Given the description of an element on the screen output the (x, y) to click on. 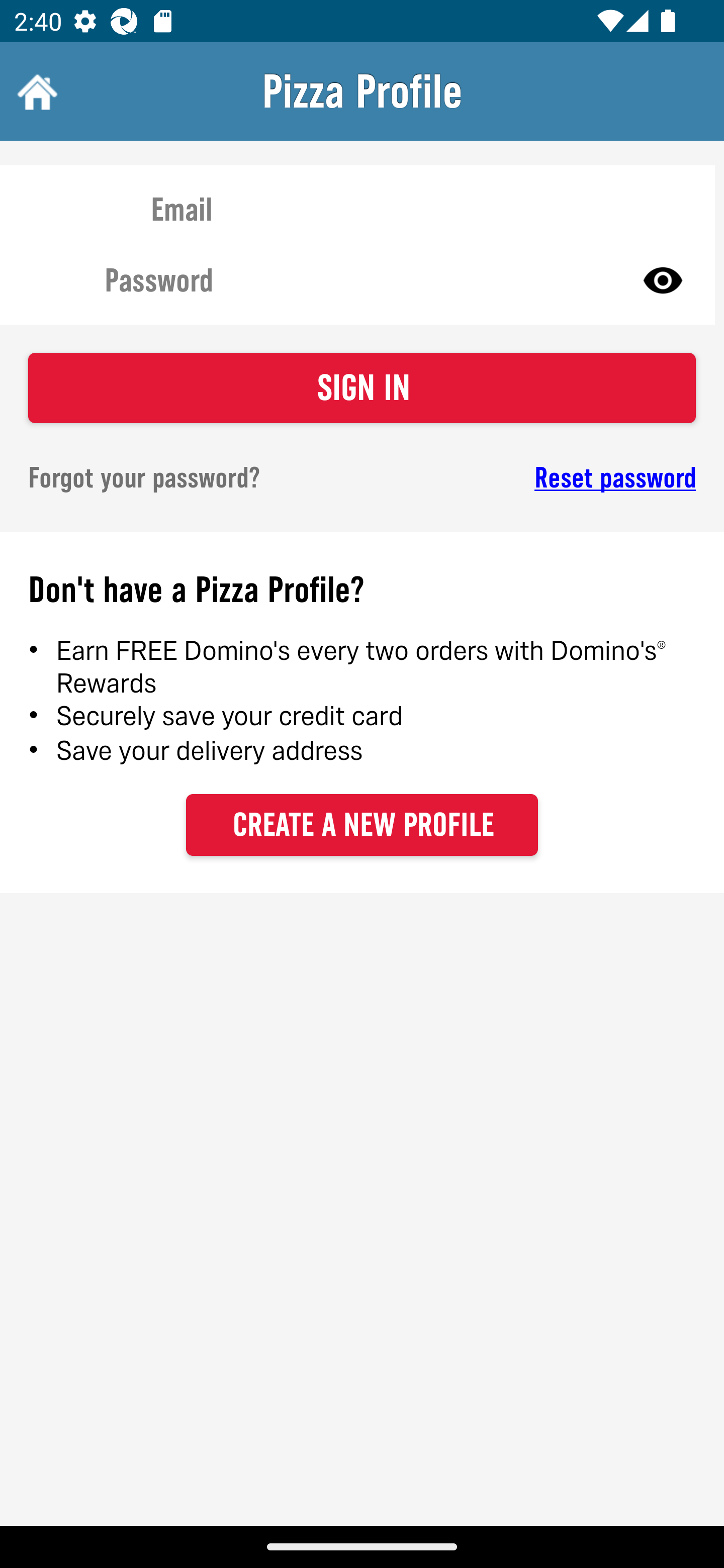
Home (35, 91)
Show Password (663, 279)
SIGN IN (361, 387)
Reset password (545, 477)
CREATE A NEW PROFILE (361, 824)
